Given the description of an element on the screen output the (x, y) to click on. 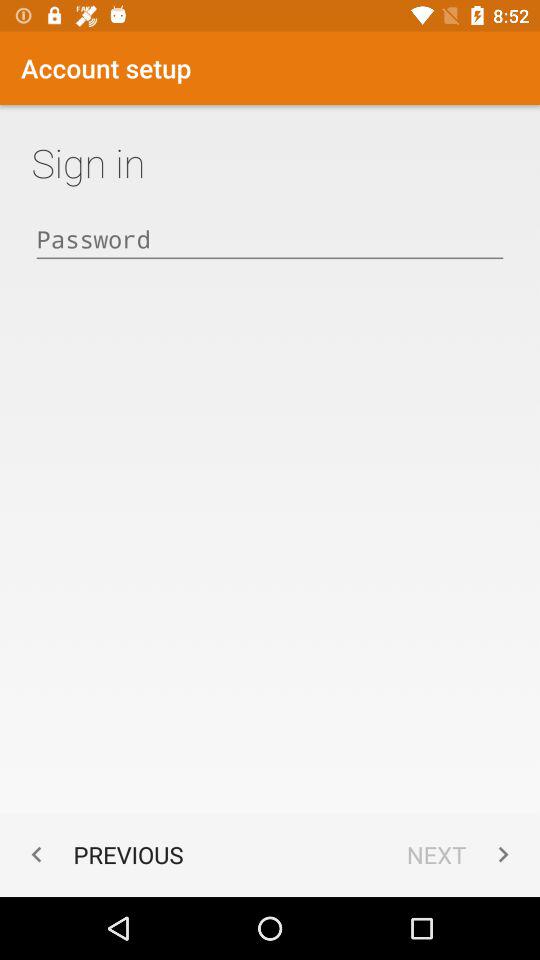
scroll until the next app (462, 854)
